Given the description of an element on the screen output the (x, y) to click on. 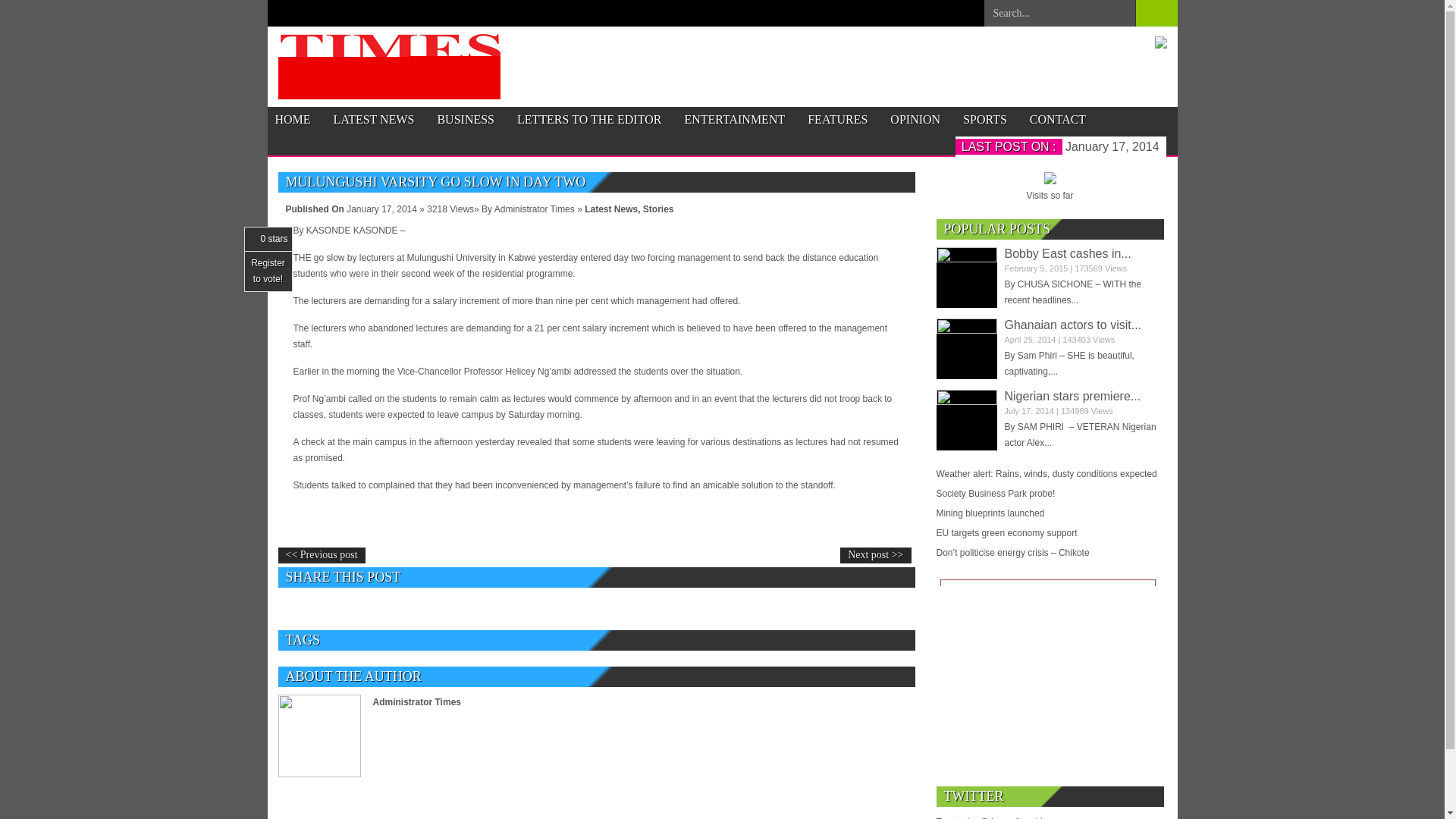
OPINION (914, 120)
HOME (292, 120)
Weather alert: Rains, winds, dusty conditions expected (1049, 474)
LATEST NEWS (373, 120)
SPORTS (984, 120)
Society Business Park probe! (1049, 494)
CONTACT (1057, 120)
Ghanaian actors to visit Zambia (1072, 324)
Register (267, 262)
Mining blueprints launched (1049, 513)
